Given the description of an element on the screen output the (x, y) to click on. 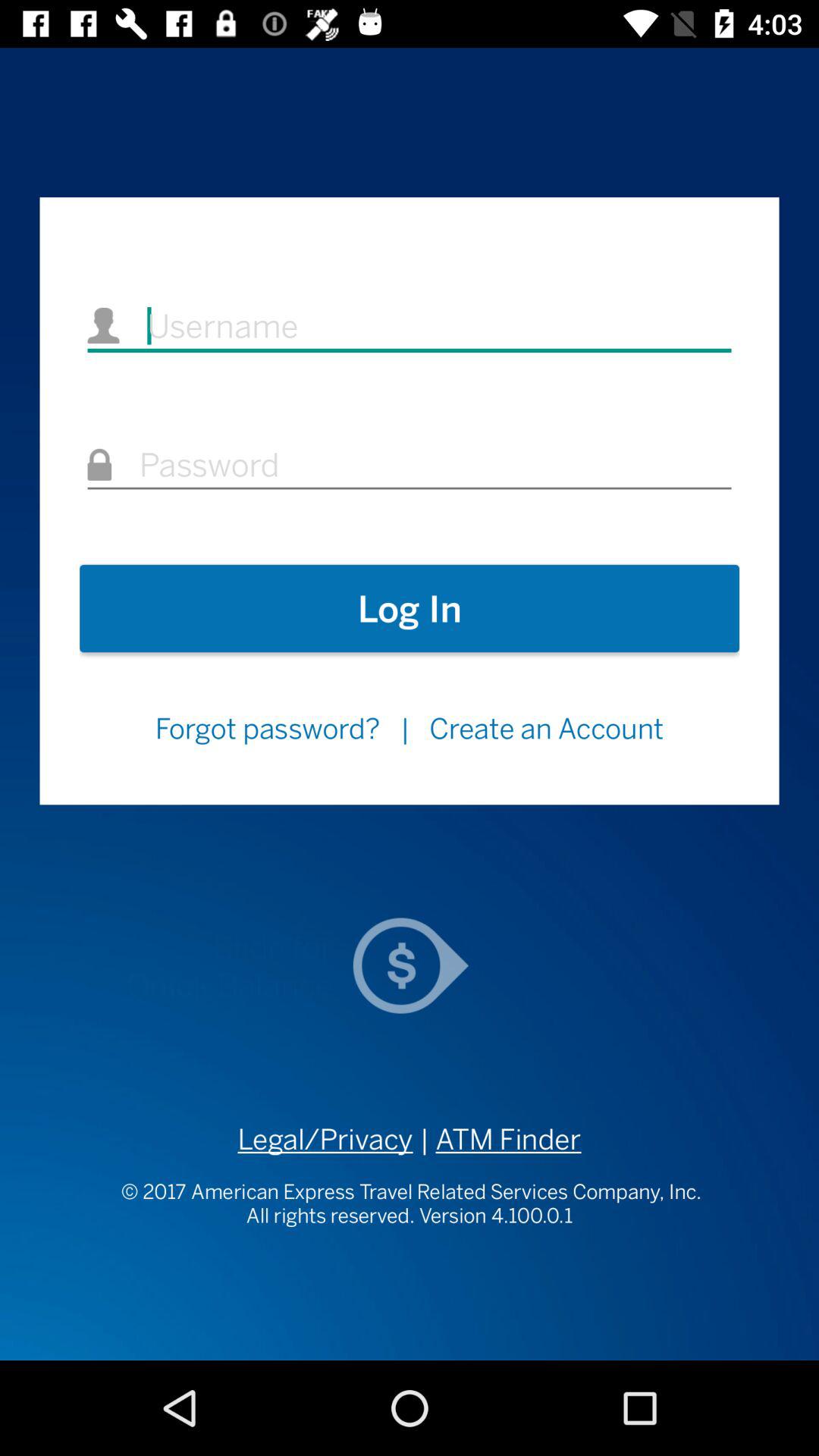
choose icon above the 2017 american express (325, 1138)
